Given the description of an element on the screen output the (x, y) to click on. 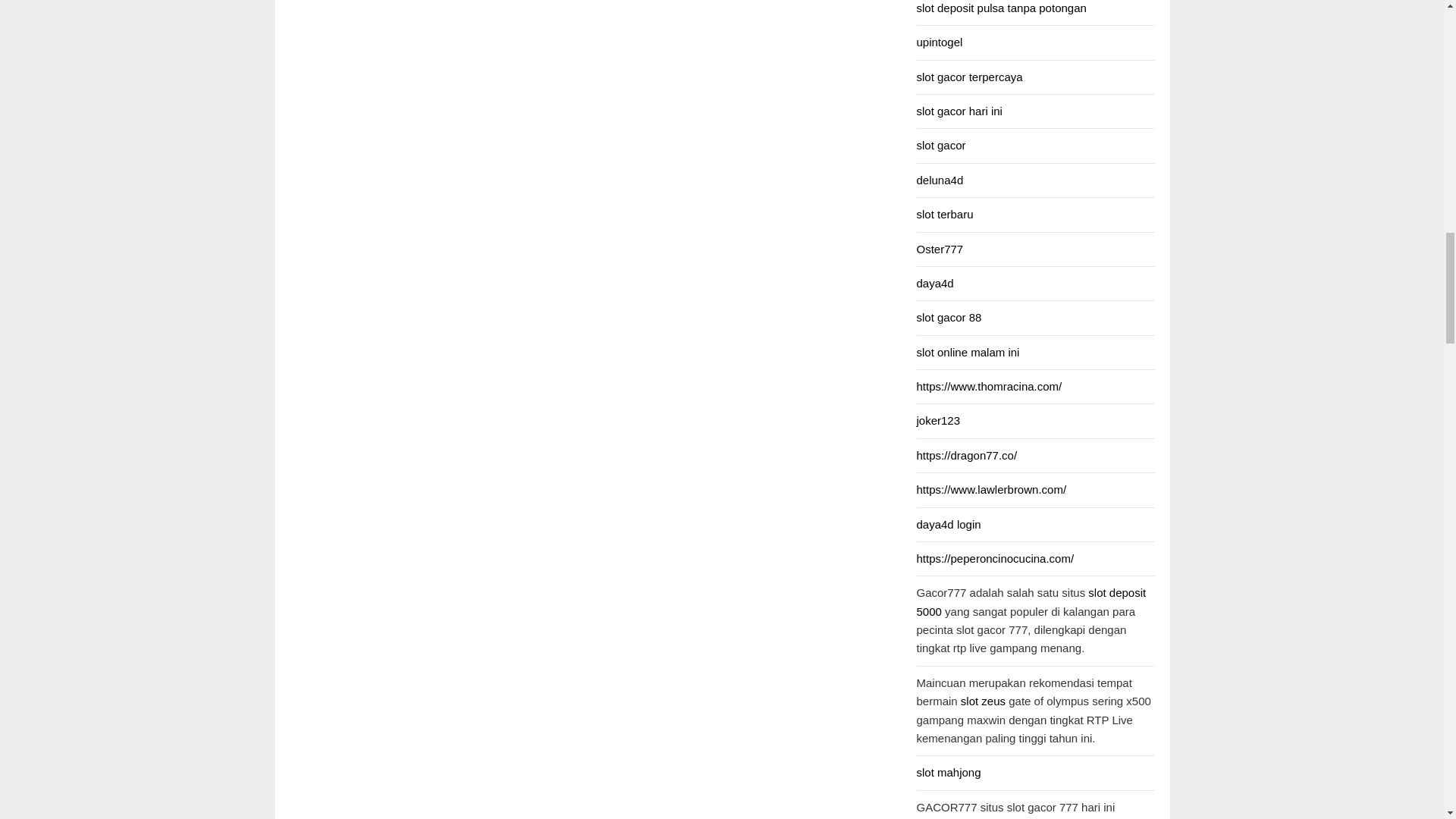
slot gacor (940, 144)
upintogel (938, 42)
slot gacor terpercaya (968, 76)
slot deposit pulsa tanpa potongan (1000, 7)
deluna4d (938, 179)
